Given the description of an element on the screen output the (x, y) to click on. 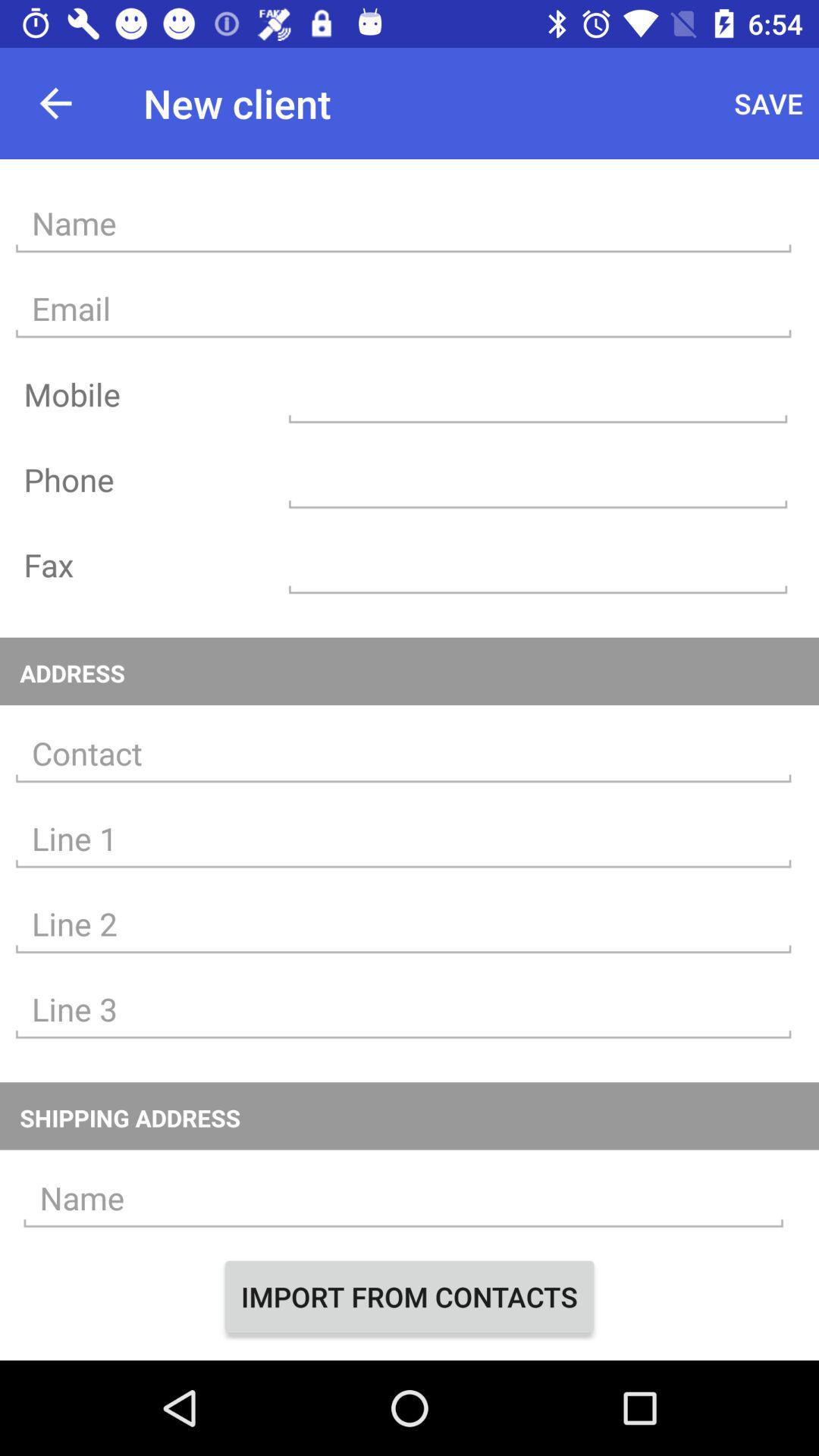
select item next to new client (55, 103)
